Given the description of an element on the screen output the (x, y) to click on. 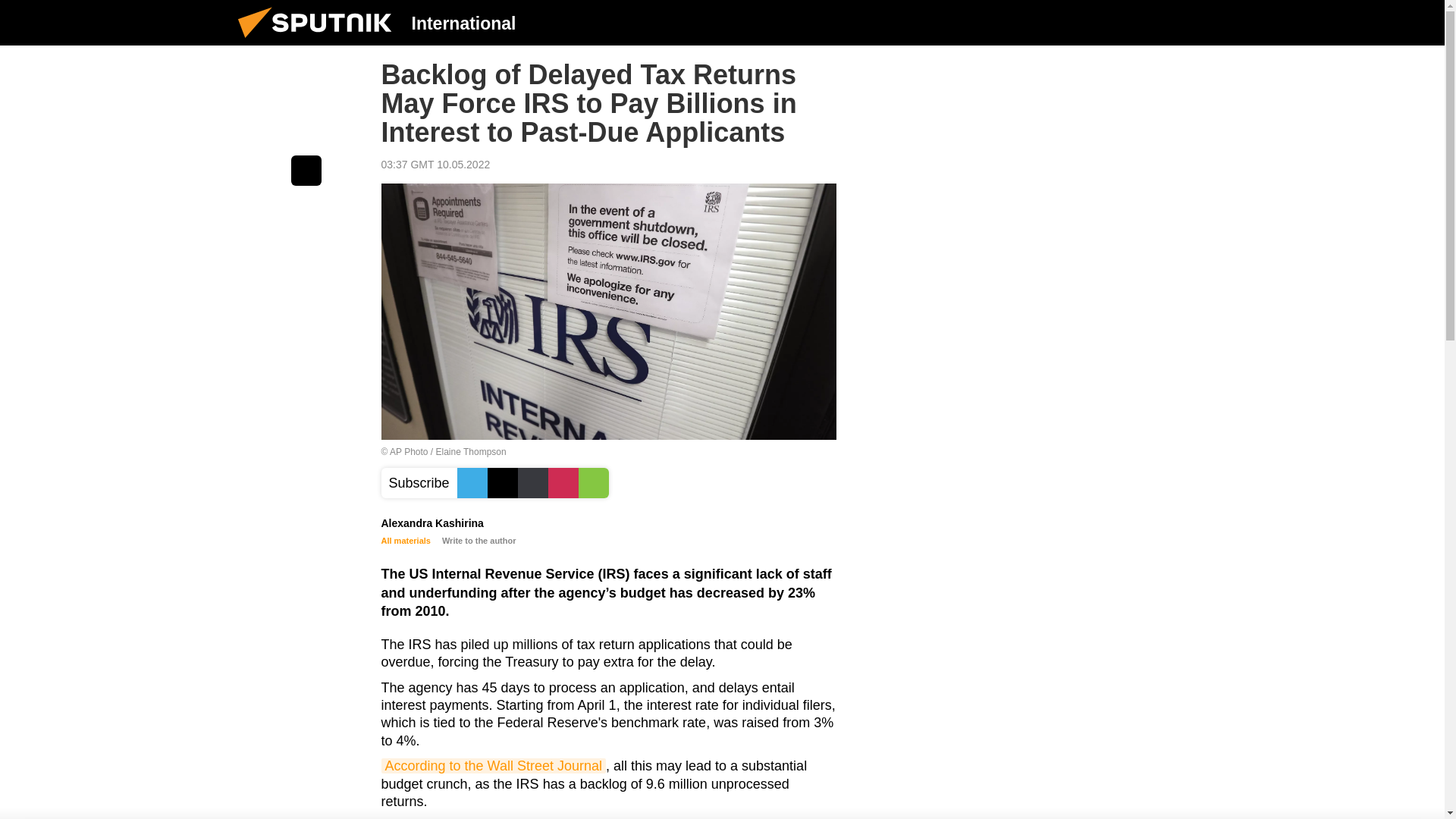
Sputnik International (319, 41)
Chats (1199, 22)
Authorization (1123, 22)
